Given the description of an element on the screen output the (x, y) to click on. 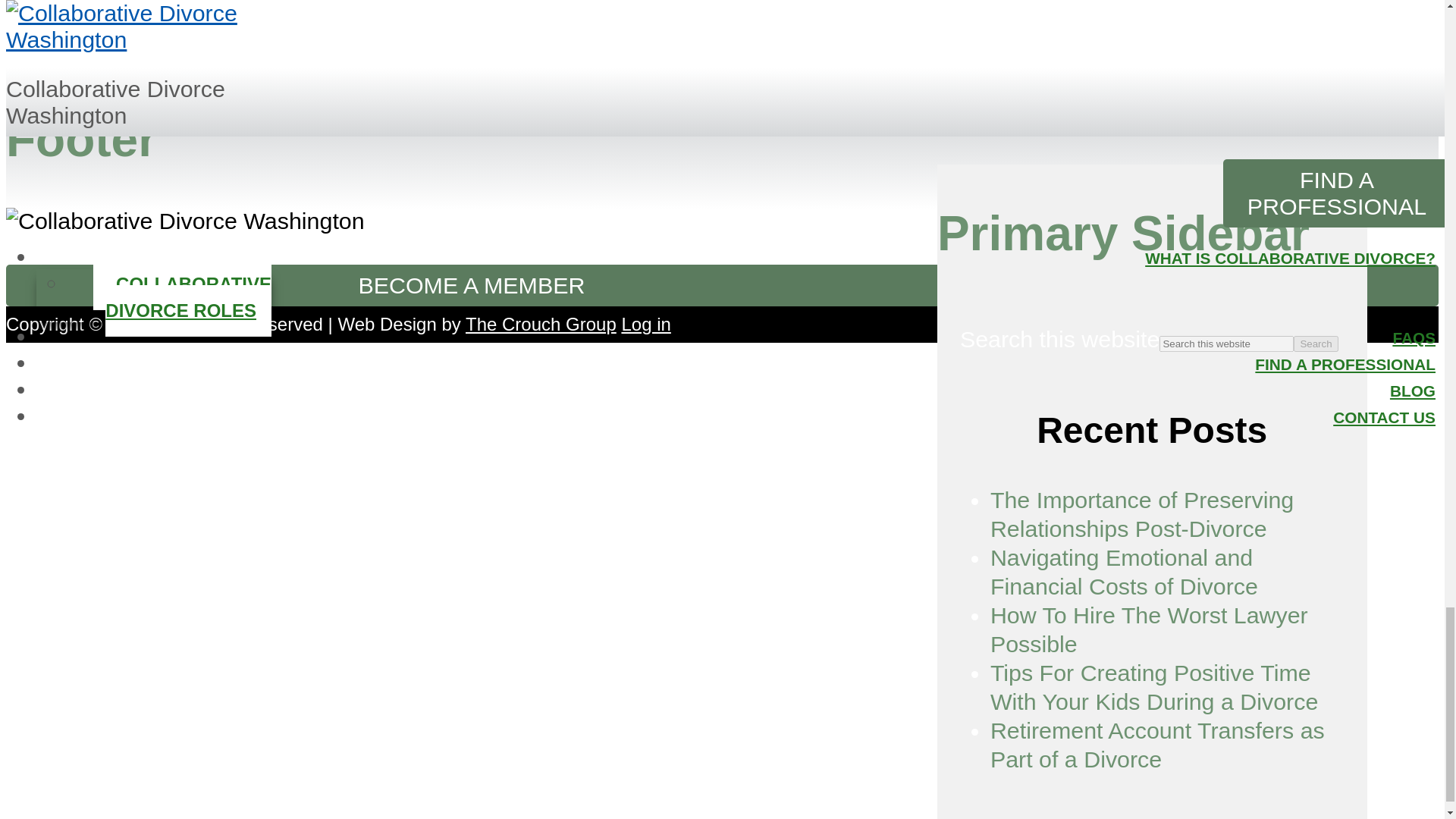
Retirement Account Transfers as Part of a Divorce (1157, 744)
How To Hire The Worst Lawyer Possible (1148, 628)
Log in (645, 323)
Navigating Emotional and Financial Costs of Divorce (1123, 571)
Search (1316, 343)
Search (1316, 343)
The Crouch Group (540, 323)
The Importance of Preserving Relationships Post-Divorce (1142, 513)
Search (1316, 343)
